Given the description of an element on the screen output the (x, y) to click on. 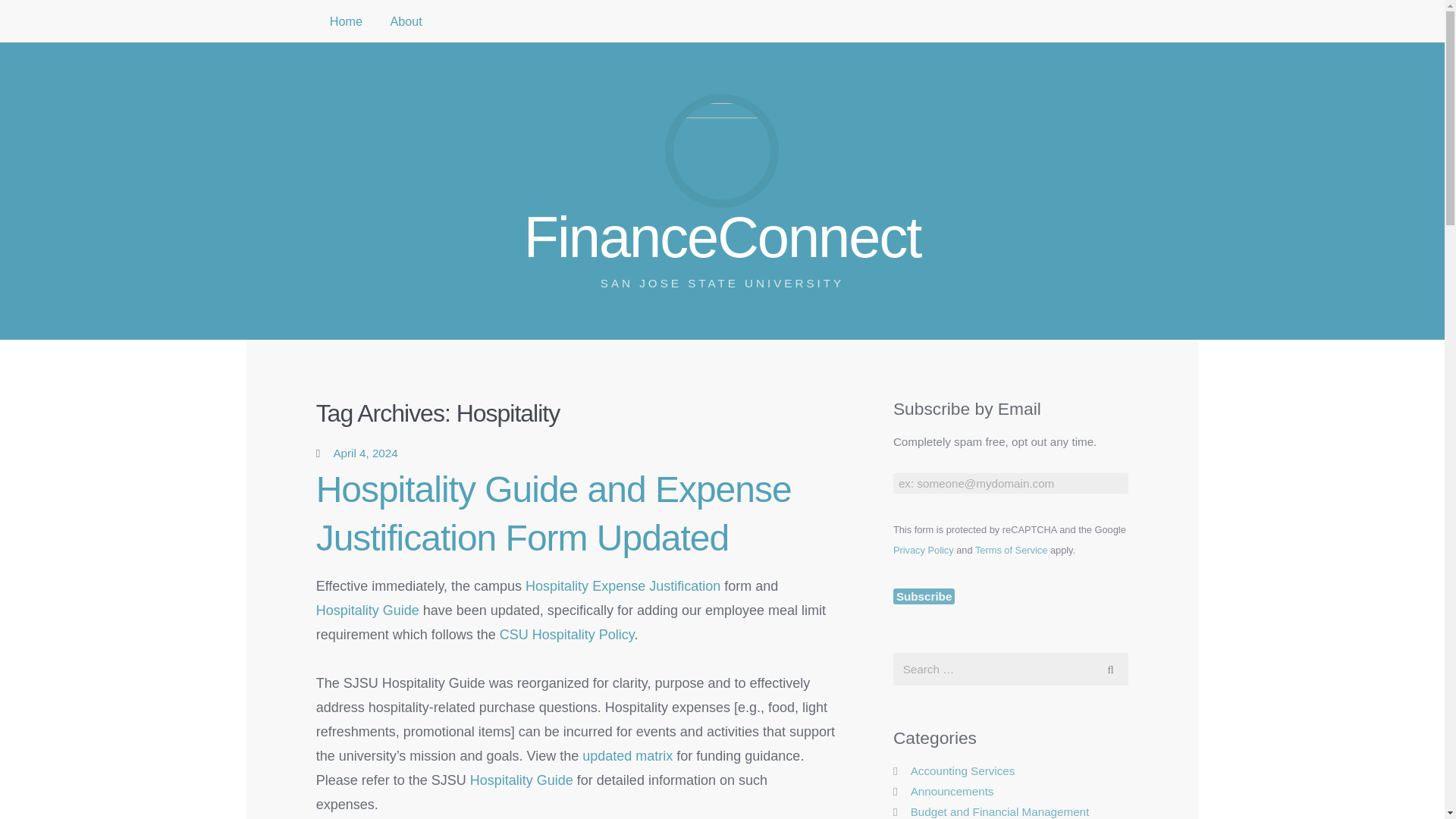
Search (1110, 668)
Hospitality Guide (521, 780)
Hospitality Guide (622, 585)
updated matrix (367, 610)
About (627, 755)
Hospitality Guide and Expense Justification Form Updated (405, 21)
